Given the description of an element on the screen output the (x, y) to click on. 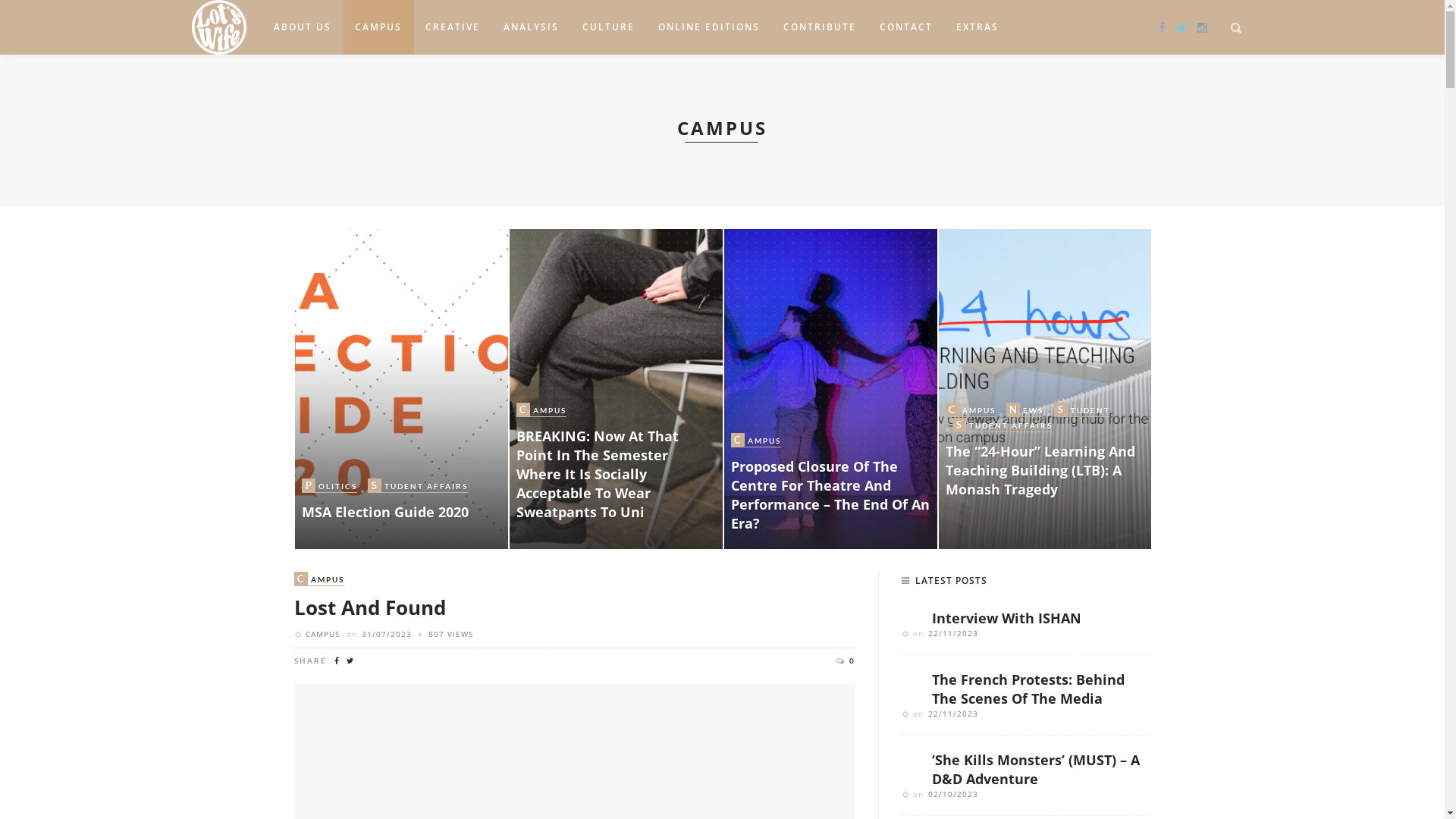
P
OLITICS Element type: text (758, 485)
MSA Election Guide 2020 Element type: hover (615, 389)
ABOUT US Element type: text (302, 27)
C
AMPUS Element type: text (319, 578)
807 VIEWS Element type: text (449, 633)
ONLINE EDITIONS Element type: text (708, 27)
ANALYSIS Element type: text (531, 27)
CAMPUS Element type: text (378, 27)
Re: No Lecture Recordings Or Laptops In This Unit  Element type: text (391, 479)
CREATIVE Element type: text (453, 27)
Interview With ISHAN Element type: text (1005, 617)
S
TUDENT AFFAIRS Element type: text (843, 485)
S
TUDENT AFFAIRS Element type: text (565, 466)
The French Protests: Behind The Scenes Of The Media Element type: text (1027, 688)
S
TUDENT Element type: text (329, 443)
0 Element type: text (844, 660)
Lost And Found Element type: text (369, 606)
Lot's Wife Magazine Element type: hover (218, 25)
CULTURE Element type: text (608, 27)
C
AMPUS Element type: text (969, 409)
Monash Ravaged by Wild Weather Element type: hover (400, 389)
Monash Ravaged By Wild Weather Element type: text (600, 501)
CAMPUS Element type: text (321, 633)
EXTRAS Element type: text (977, 27)
MSA Election Guide 2020 Element type: text (814, 511)
CONTRIBUTE Element type: text (819, 27)
CONTACT Element type: text (906, 27)
